Given the description of an element on the screen output the (x, y) to click on. 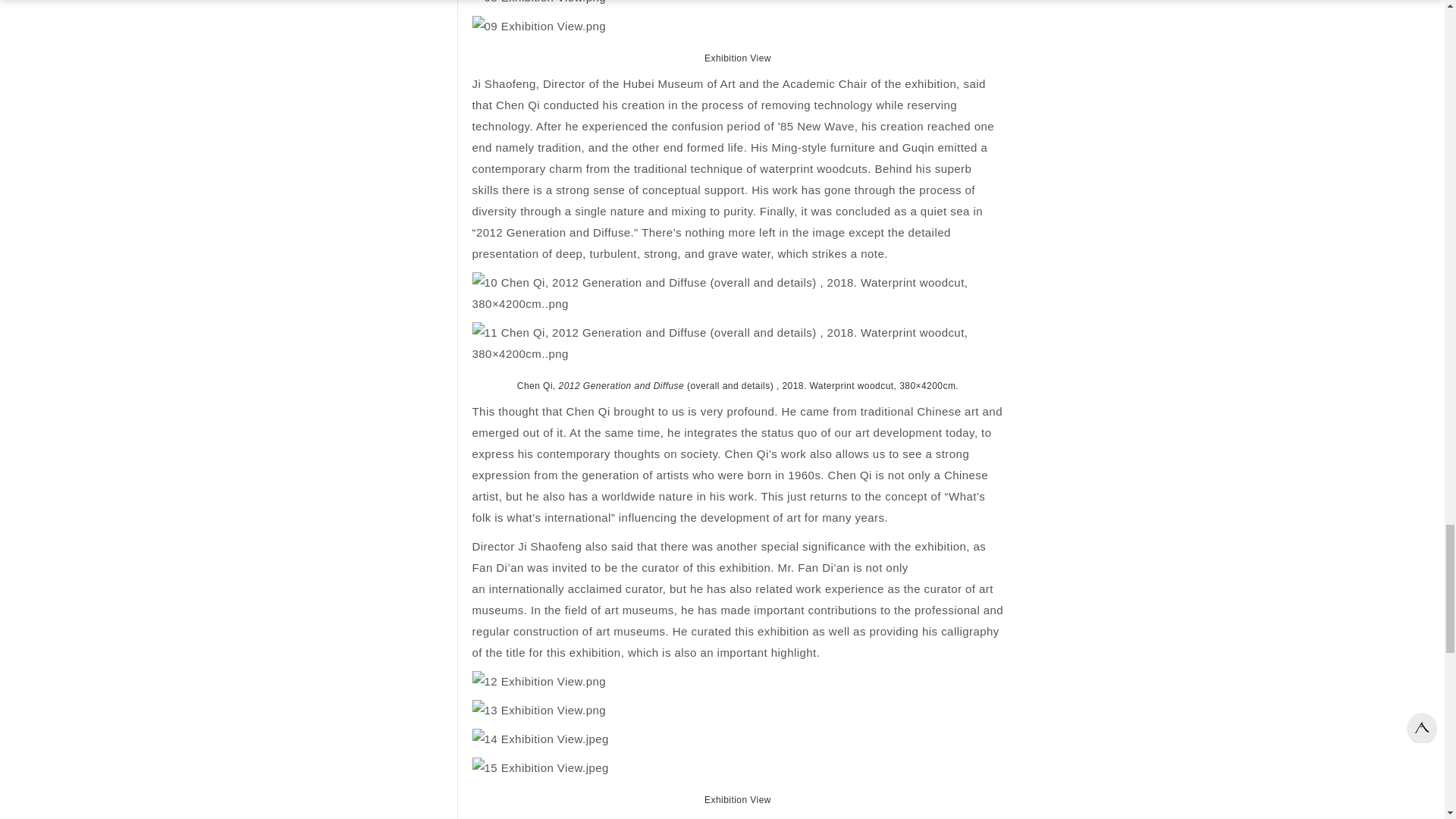
14 Exhibition View.jpeg (737, 739)
08 Exhibition View.png (737, 4)
13 Exhibition View.png (737, 710)
15 Exhibition View.jpeg (737, 767)
12 Exhibition View.png (737, 681)
09 Exhibition View.png (737, 25)
